Given the description of an element on the screen output the (x, y) to click on. 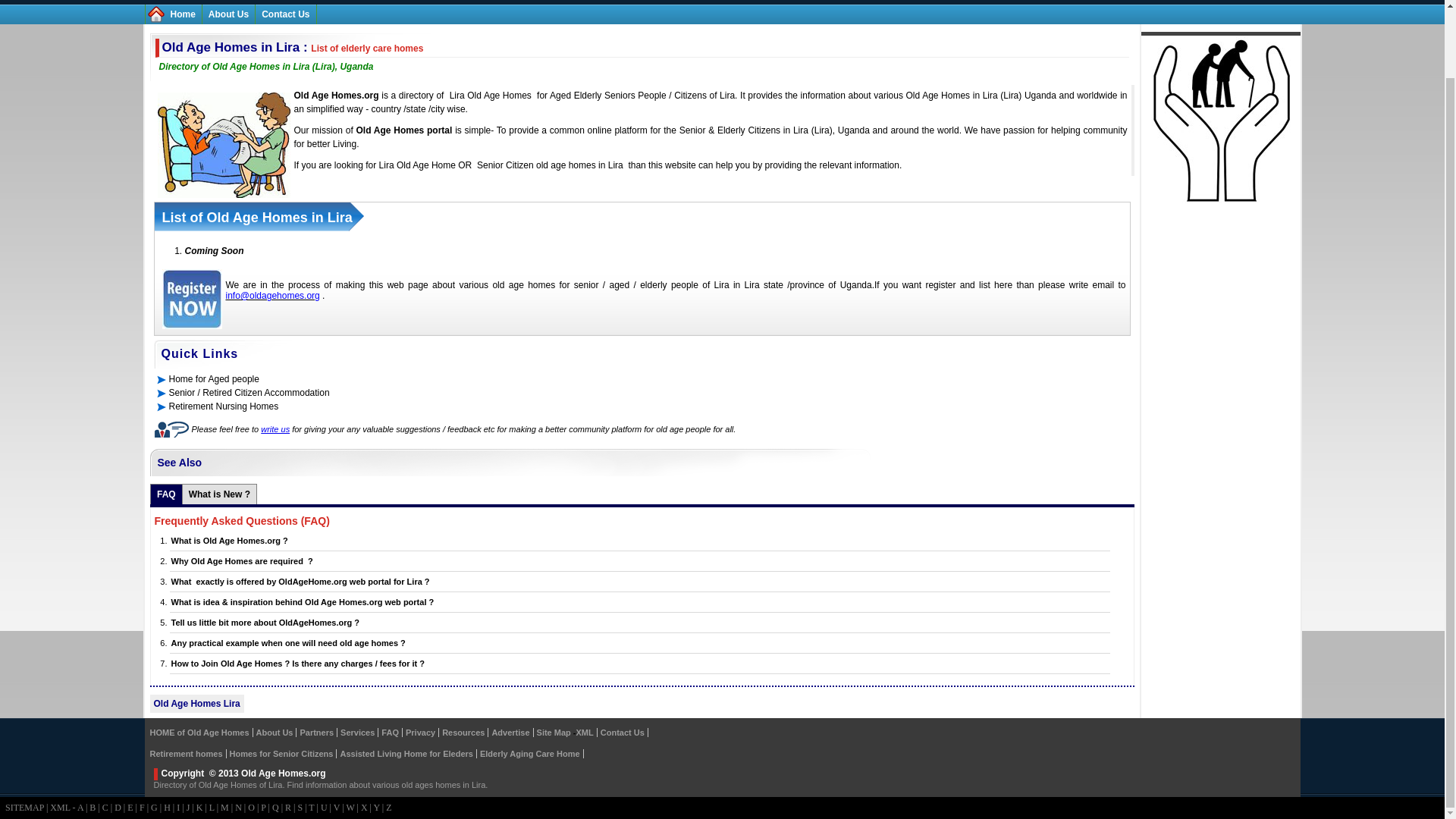
FAQ (167, 494)
What is New ? (220, 494)
Services (357, 732)
About Us (275, 732)
write us (274, 429)
HOME of Old Age Homes (198, 732)
About Us (228, 14)
Old Age Homes Lira (196, 703)
Contact Us (285, 14)
FAQ (389, 732)
old age homes in Lira (579, 164)
Home (181, 14)
Privacy (420, 732)
Home of Old Age People (181, 14)
Old Age Homes in Lira : List of elderly care homes (292, 47)
